Given the description of an element on the screen output the (x, y) to click on. 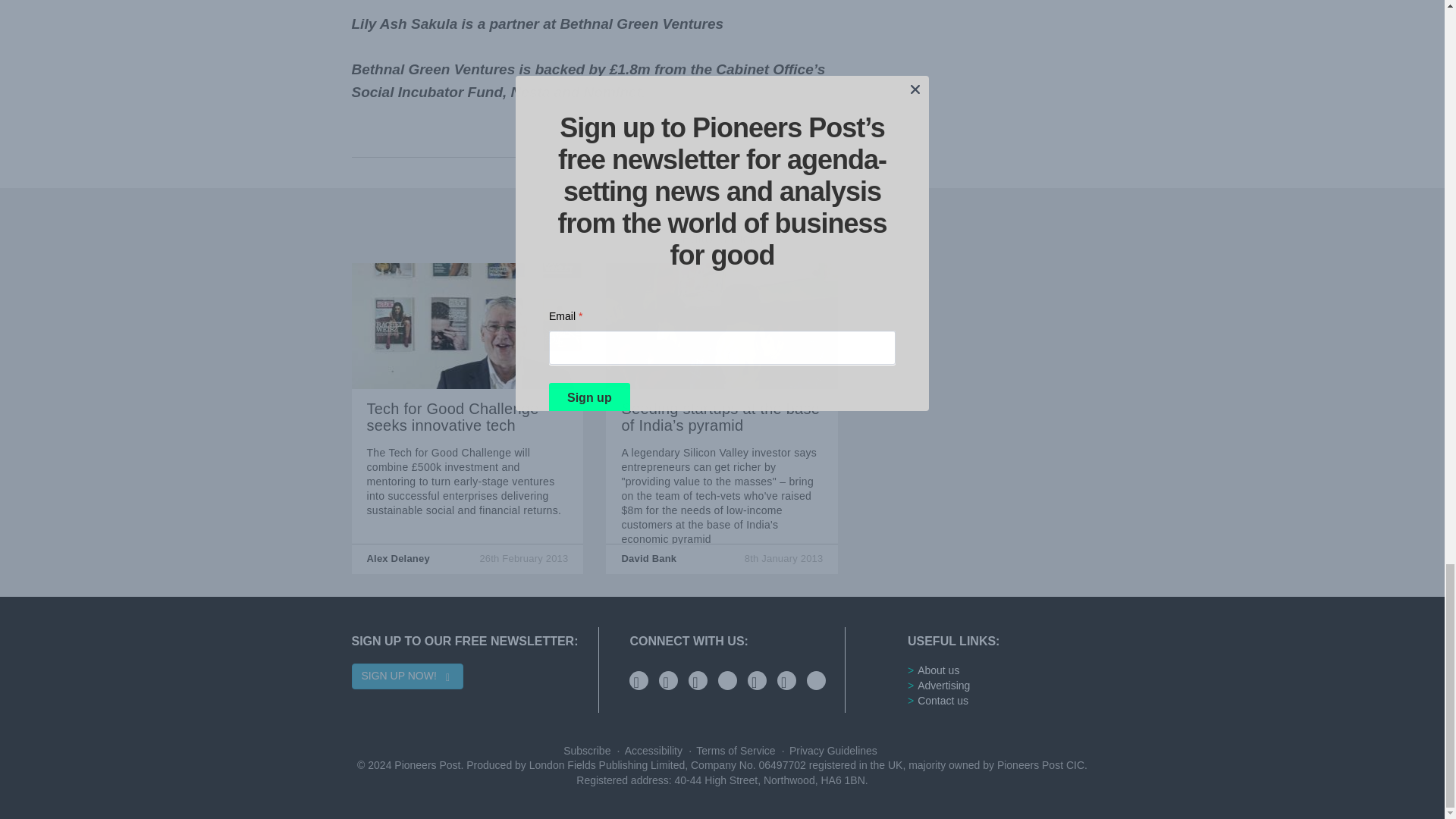
Subscribe (588, 750)
SUBSCRIBE (815, 680)
About us (938, 671)
Advertising (943, 686)
Newsletters (757, 680)
RSS (786, 680)
Subscribe to Pioneers Post (588, 750)
Twitter (637, 680)
View profile for Alex Delaney (397, 558)
View profile for David Bank (649, 558)
Youtube (697, 680)
Facebook (668, 680)
Instagram (726, 680)
Our privacy statement. (830, 750)
